Given the description of an element on the screen output the (x, y) to click on. 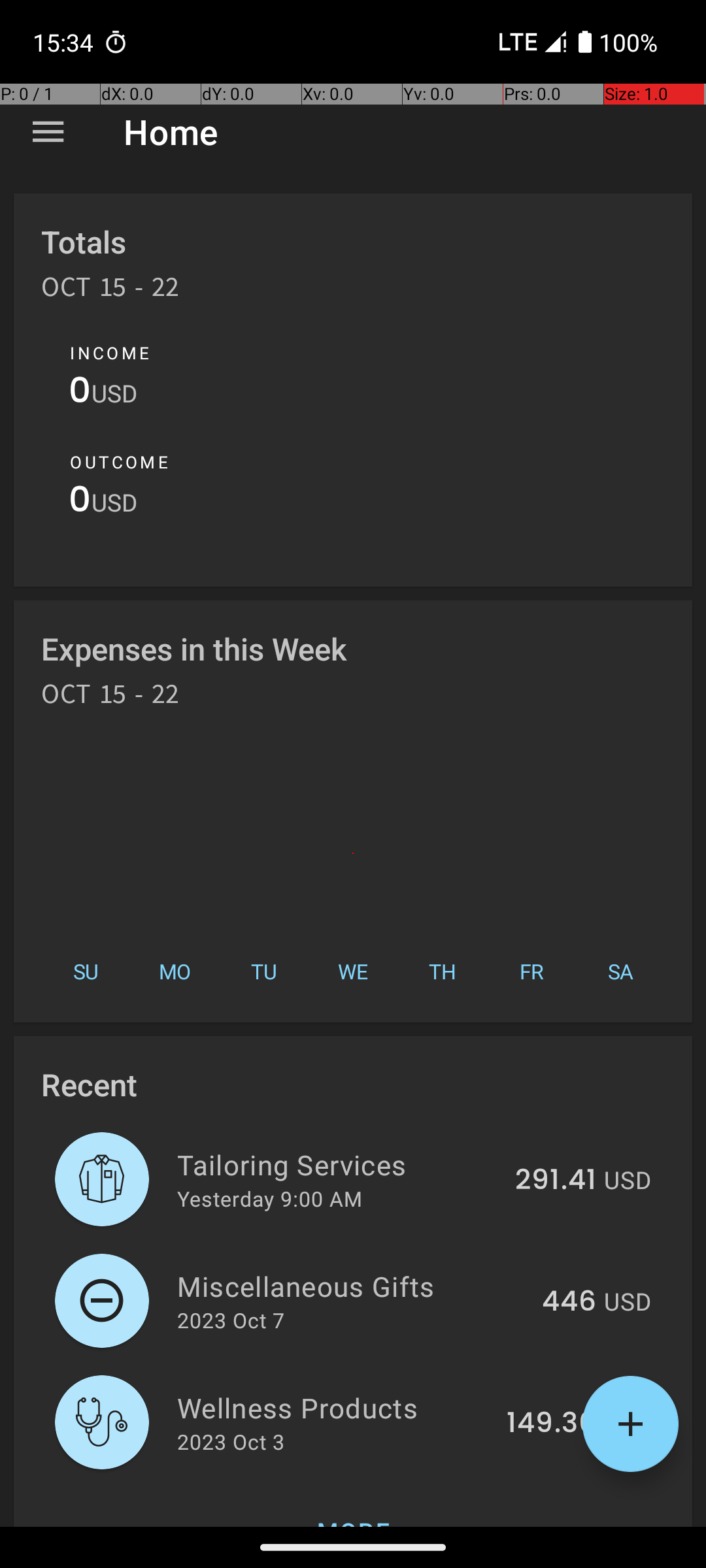
Tailoring Services Element type: android.widget.TextView (338, 1164)
Yesterday 9:00 AM Element type: android.widget.TextView (269, 1198)
291.41 Element type: android.widget.TextView (555, 1180)
Miscellaneous Gifts Element type: android.widget.TextView (351, 1285)
446 Element type: android.widget.TextView (568, 1301)
2023 Oct 3 Element type: android.widget.TextView (230, 1441)
149.36 Element type: android.widget.TextView (550, 1423)
